Given the description of an element on the screen output the (x, y) to click on. 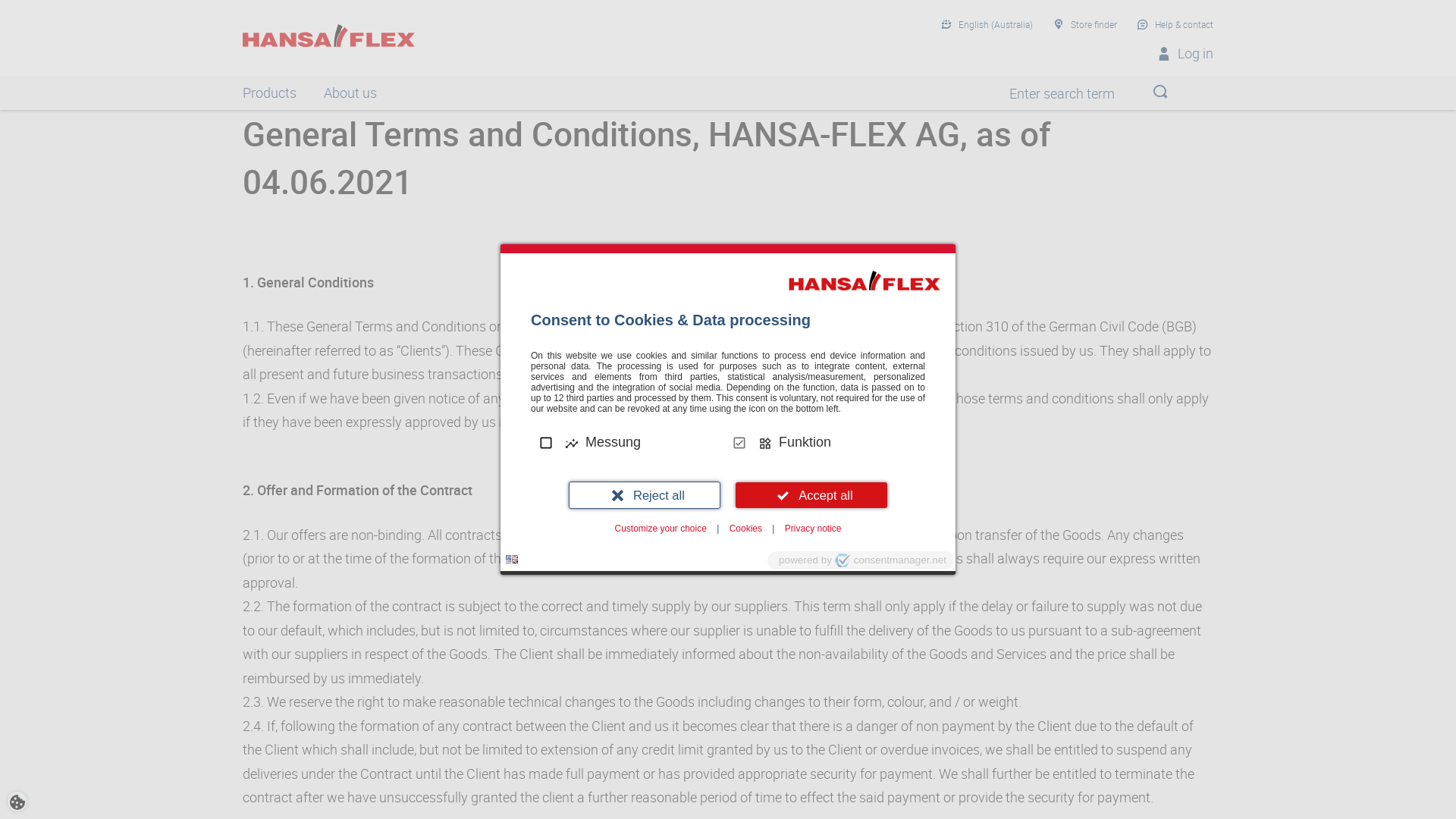
Store finder Element type: text (242, 92)
Hansaflex Logo Element type: hover (328, 35)
About us Element type: text (349, 92)
Products Element type: text (269, 92)
Help & contact Element type: text (1175, 24)
Store finder Element type: text (1085, 24)
English (Australia) Element type: text (986, 24)
Log in Element type: text (1185, 53)
